Given the description of an element on the screen output the (x, y) to click on. 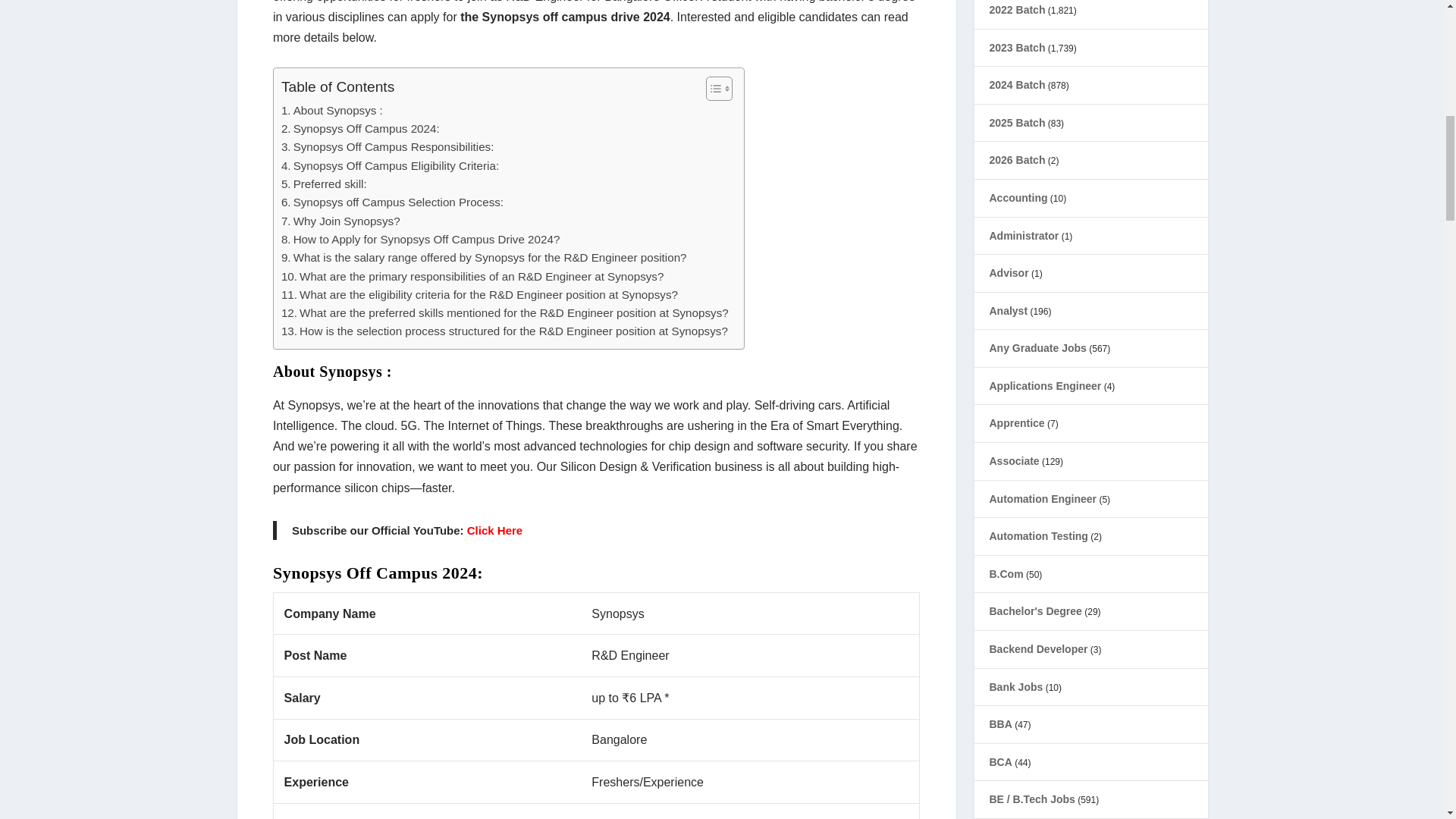
Synopsys off Campus Selection Process: (392, 202)
Synopsys Off Campus 2024: (360, 128)
How to Apply for Synopsys Off Campus Drive 2024? (420, 239)
Synopsys Off Campus Eligibility Criteria: (390, 166)
Synopsys Off Campus Responsibilities: (388, 147)
Preferred skill: (323, 184)
About Synopsys : (331, 110)
Why Join Synopsys? (340, 221)
